Given the description of an element on the screen output the (x, y) to click on. 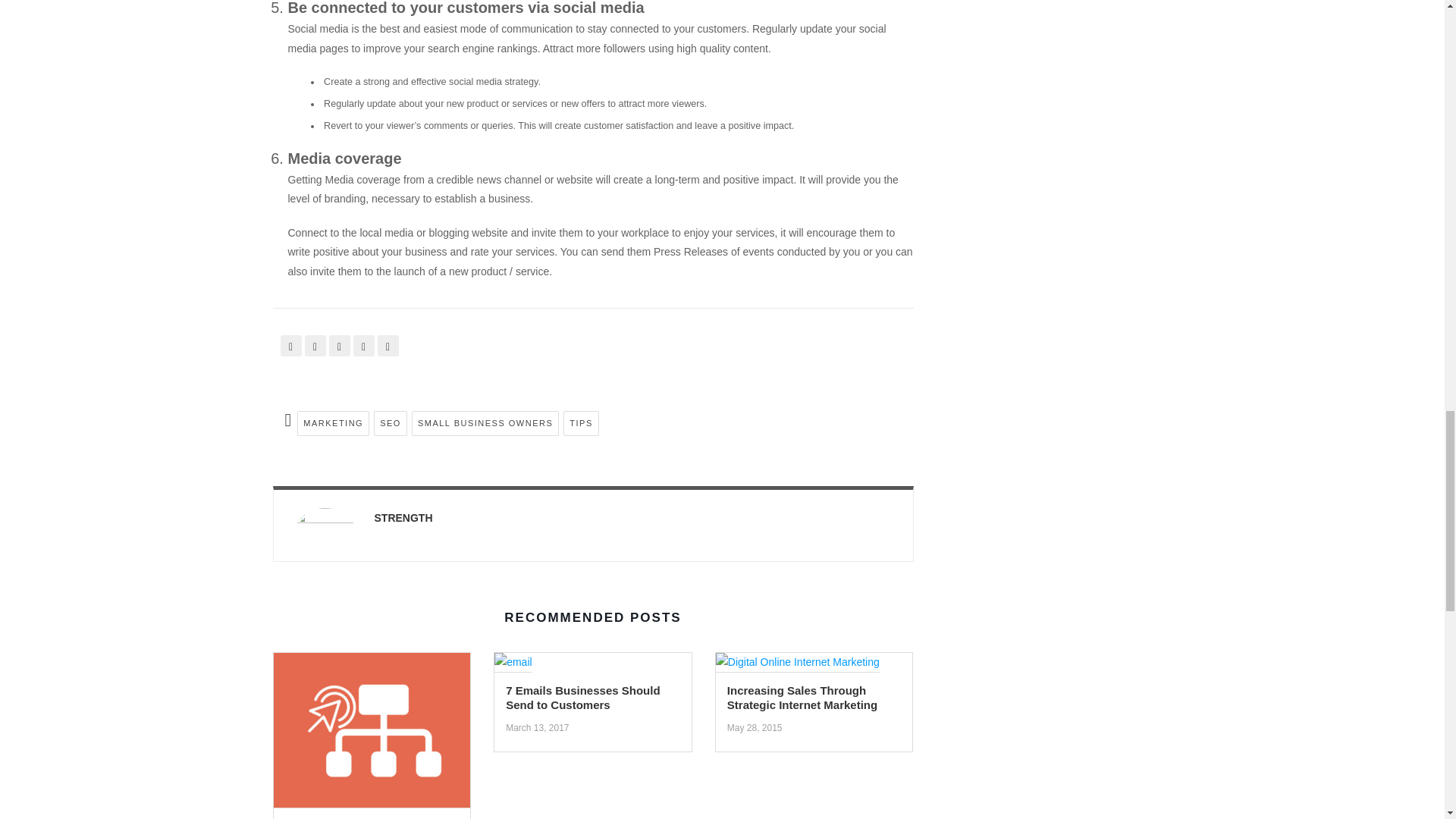
Posts by Strength (403, 517)
Increasing Sales Through Strategic Internet Marketing (797, 666)
7 Emails Businesses Should Send to Customers (513, 666)
